Given the description of an element on the screen output the (x, y) to click on. 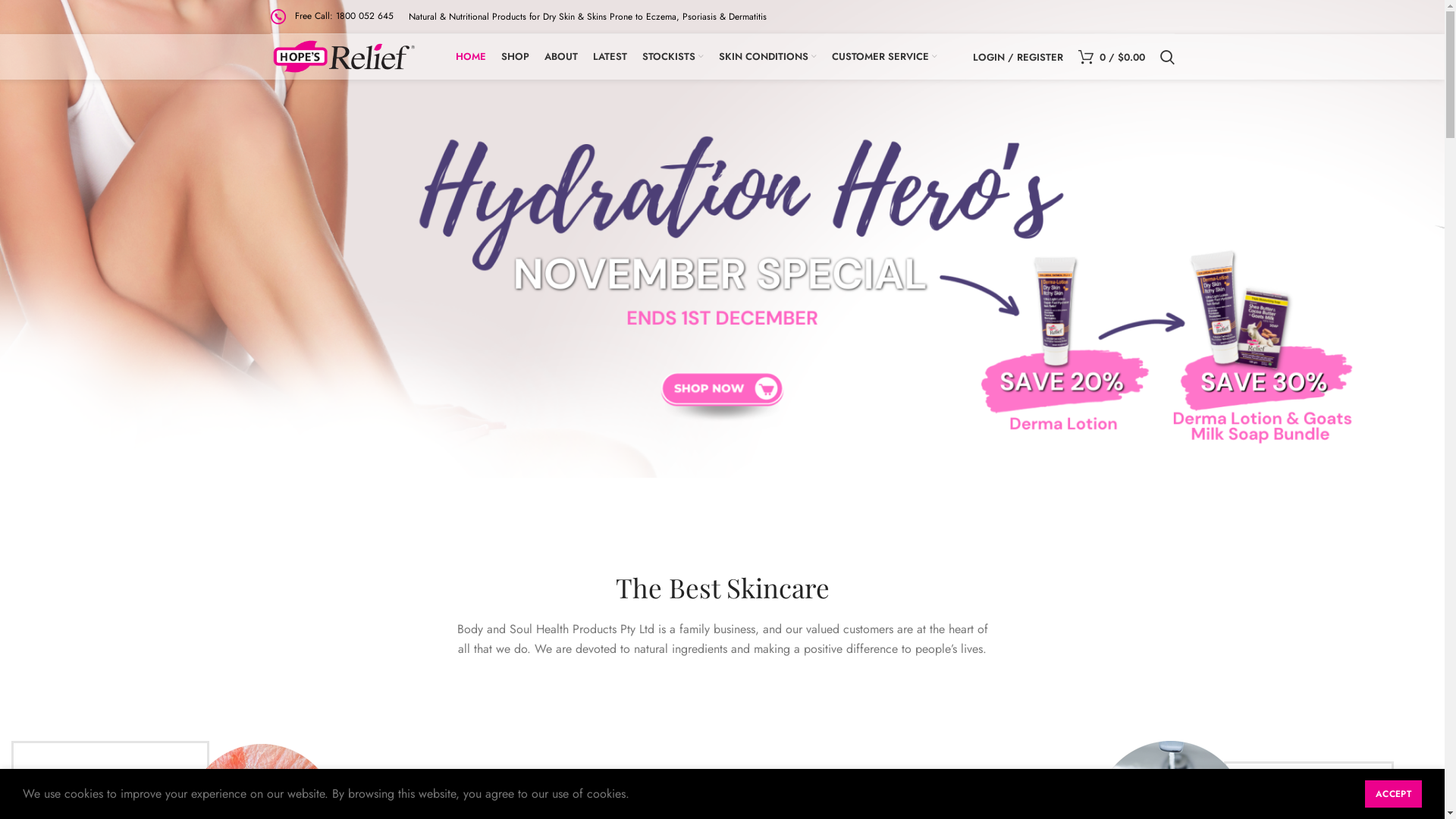
LATEST Element type: text (609, 56)
  Free Call: 1800 052 645 Element type: text (330, 15)
0 / $0.00 Element type: text (1111, 56)
LOGIN / REGISTER Element type: text (1017, 56)
STOCKISTS Element type: text (672, 56)
Search Element type: hover (1167, 56)
CUSTOMER SERVICE Element type: text (884, 56)
ABOUT Element type: text (560, 56)
SHOP Element type: text (514, 56)
HOME Element type: text (470, 56)
SKIN CONDITIONS Element type: text (767, 56)
ACCEPT Element type: text (1393, 793)
